Given the description of an element on the screen output the (x, y) to click on. 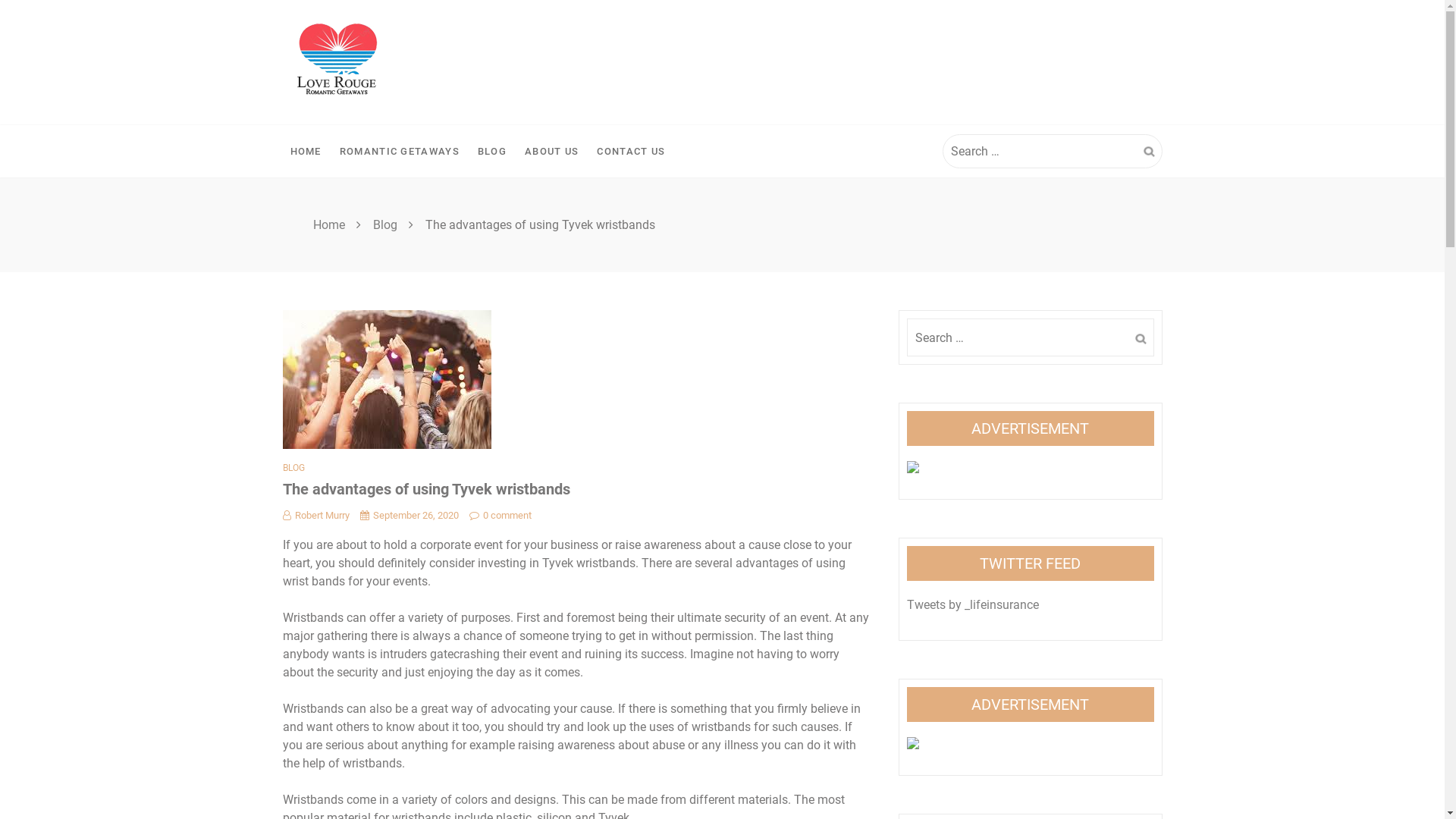
CONTACT US Element type: text (630, 151)
Search Element type: text (1148, 150)
ROMANTIC GETAWAYS Element type: text (399, 151)
Tweets by _lifeinsurance Element type: text (972, 604)
Home Element type: text (328, 224)
BLOG Element type: text (293, 467)
HOME Element type: text (305, 151)
September 26, 2020 Element type: text (408, 514)
ABOUT US Element type: text (551, 151)
The advantages of using Tyvek wristbands Element type: hover (386, 379)
Search Element type: text (1139, 339)
Robert Murry Element type: text (315, 514)
0 comment Element type: text (499, 514)
BLOG Element type: text (492, 151)
Blog Element type: text (385, 224)
